Given the description of an element on the screen output the (x, y) to click on. 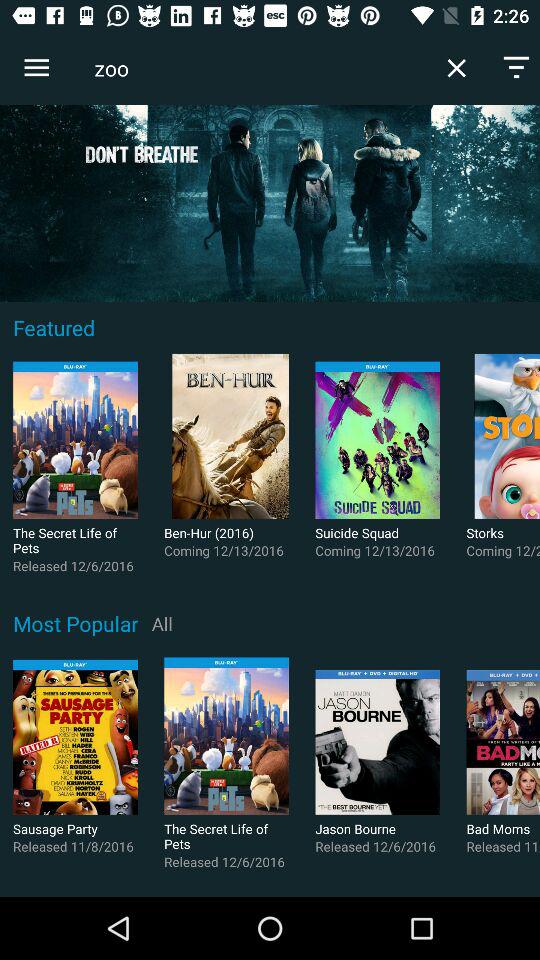
tap item to the right of the zoo icon (456, 67)
